Given the description of an element on the screen output the (x, y) to click on. 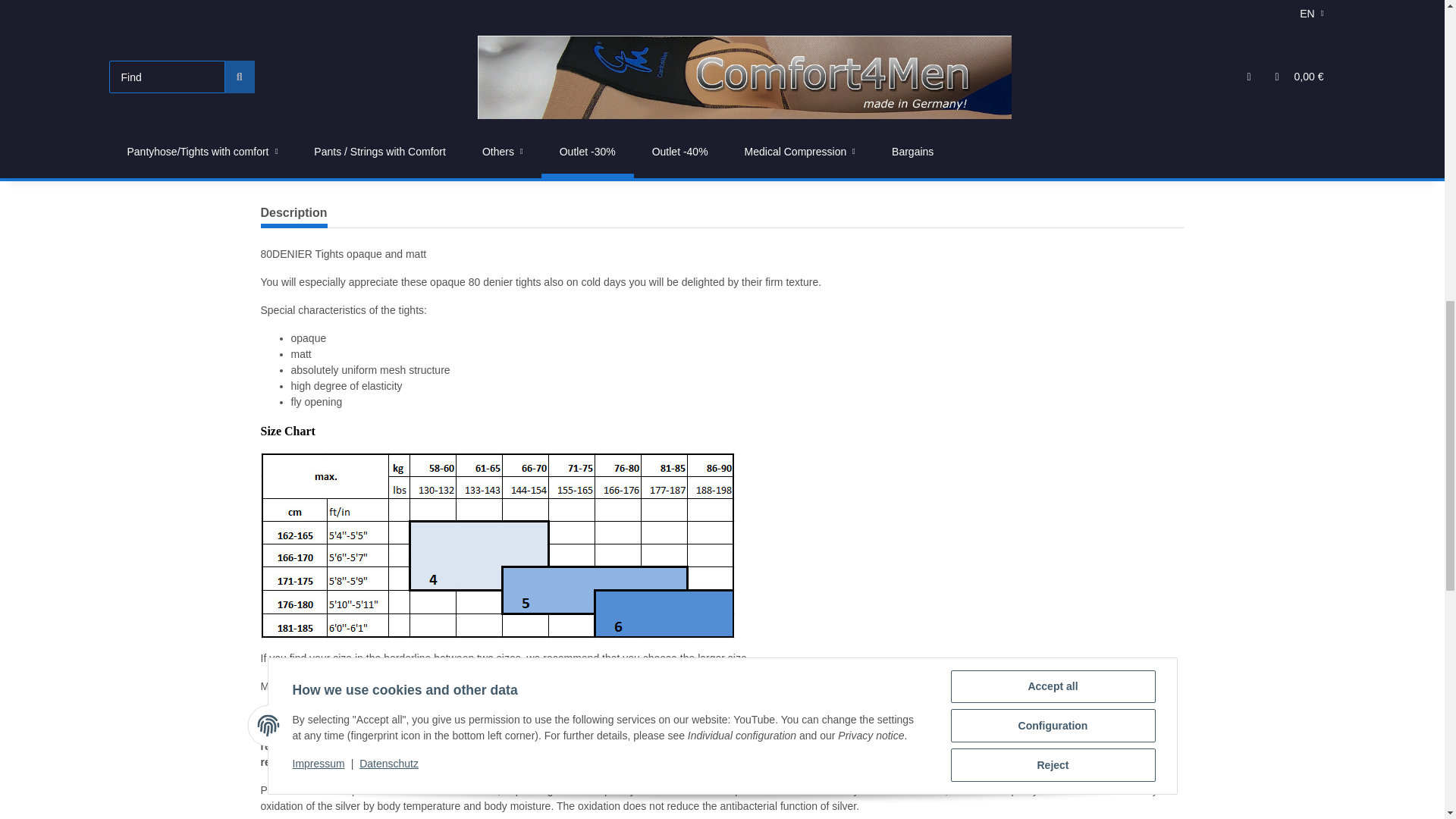
1 (840, 144)
